Given the description of an element on the screen output the (x, y) to click on. 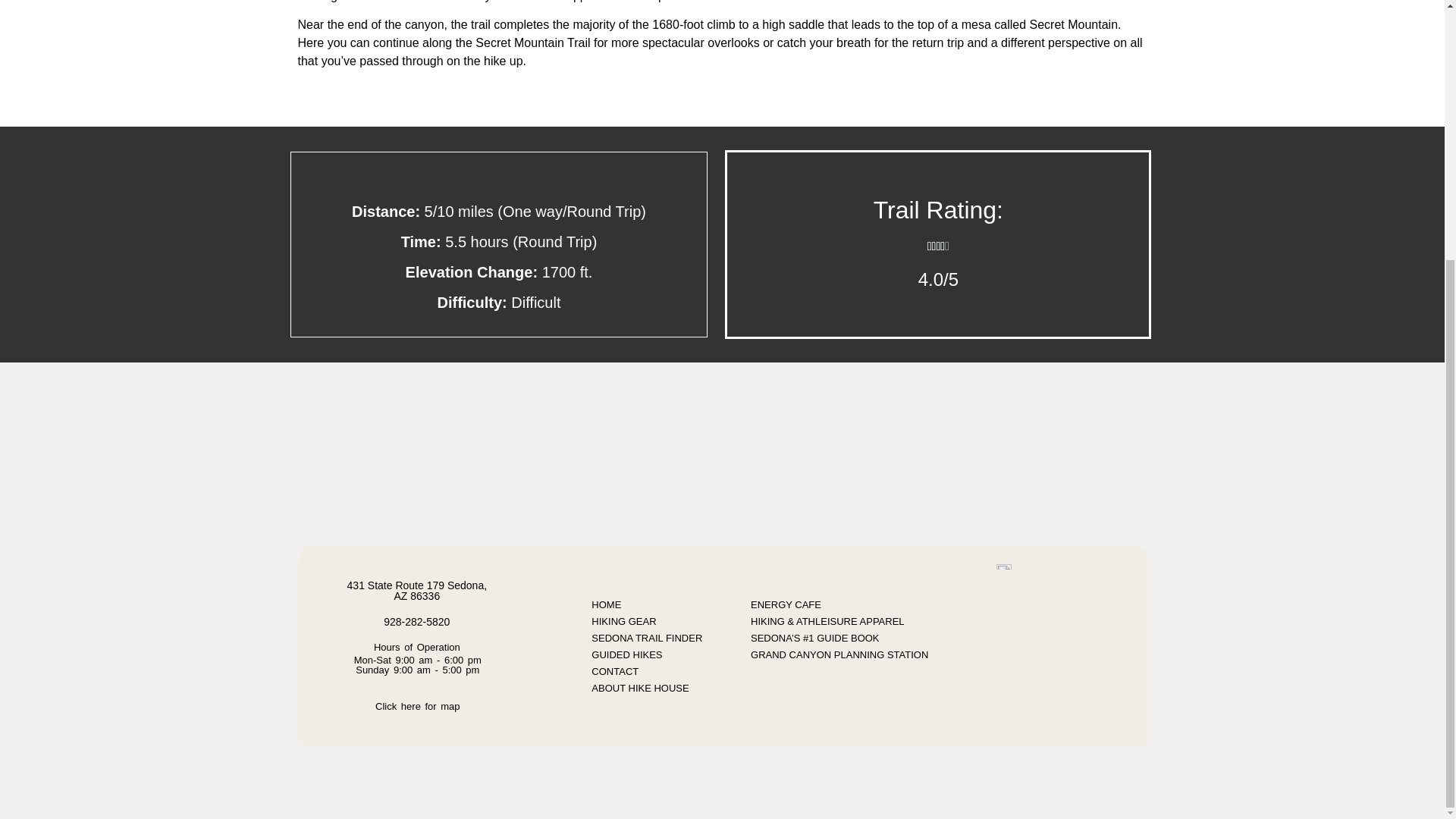
Click here for map (417, 706)
HOME (646, 605)
GRAND CANYON PLANNING STATION (839, 655)
SEDONA TRAIL FINDER (646, 638)
GUIDED HIKES (646, 655)
ENERGY CAFE (785, 605)
CONTACT (646, 671)
HIKING GEAR (646, 621)
ABOUT HIKE HOUSE (646, 688)
